Given the description of an element on the screen output the (x, y) to click on. 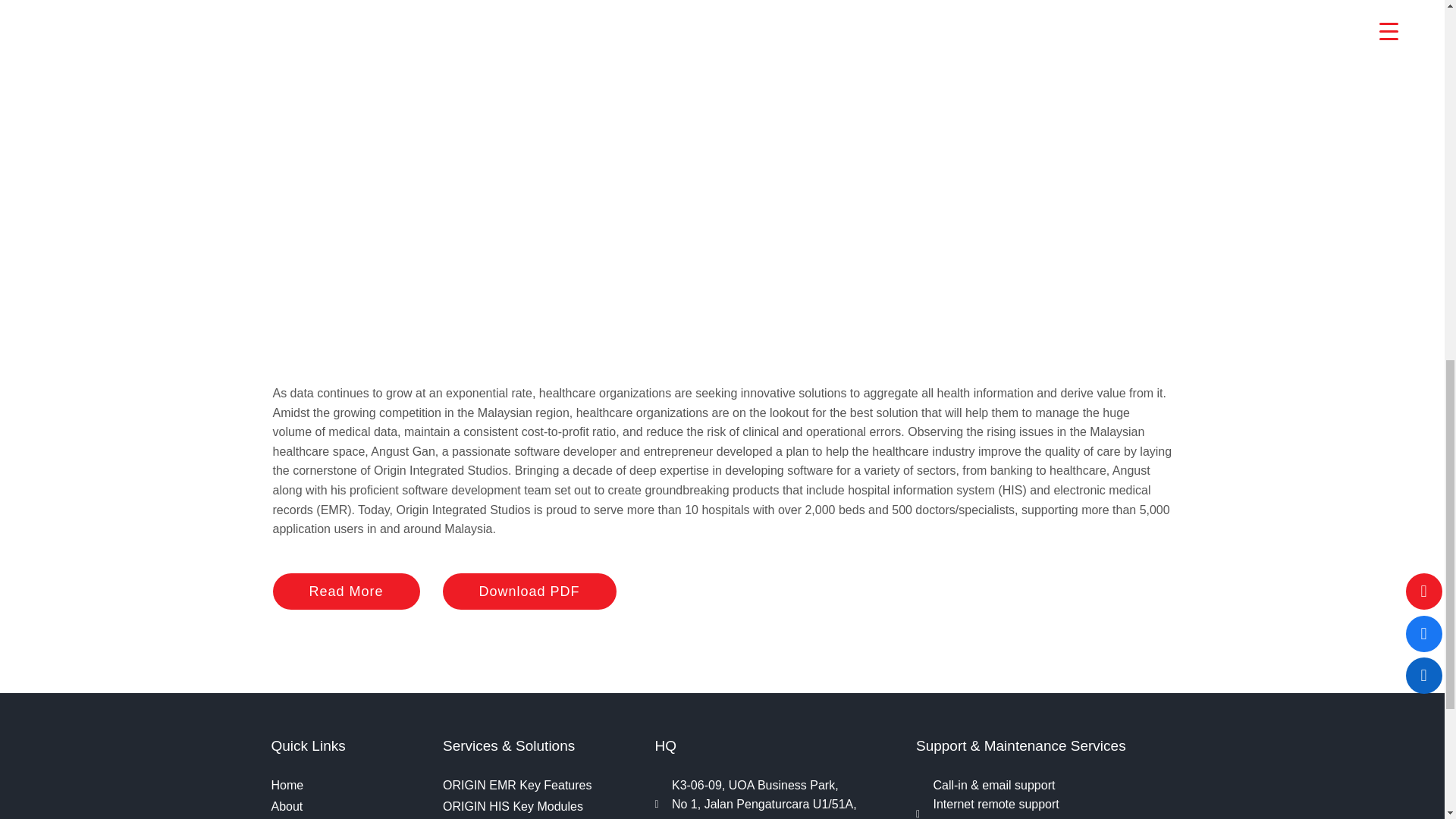
Download PDF (528, 591)
About (349, 806)
Read More (346, 591)
Home (349, 785)
